Given the description of an element on the screen output the (x, y) to click on. 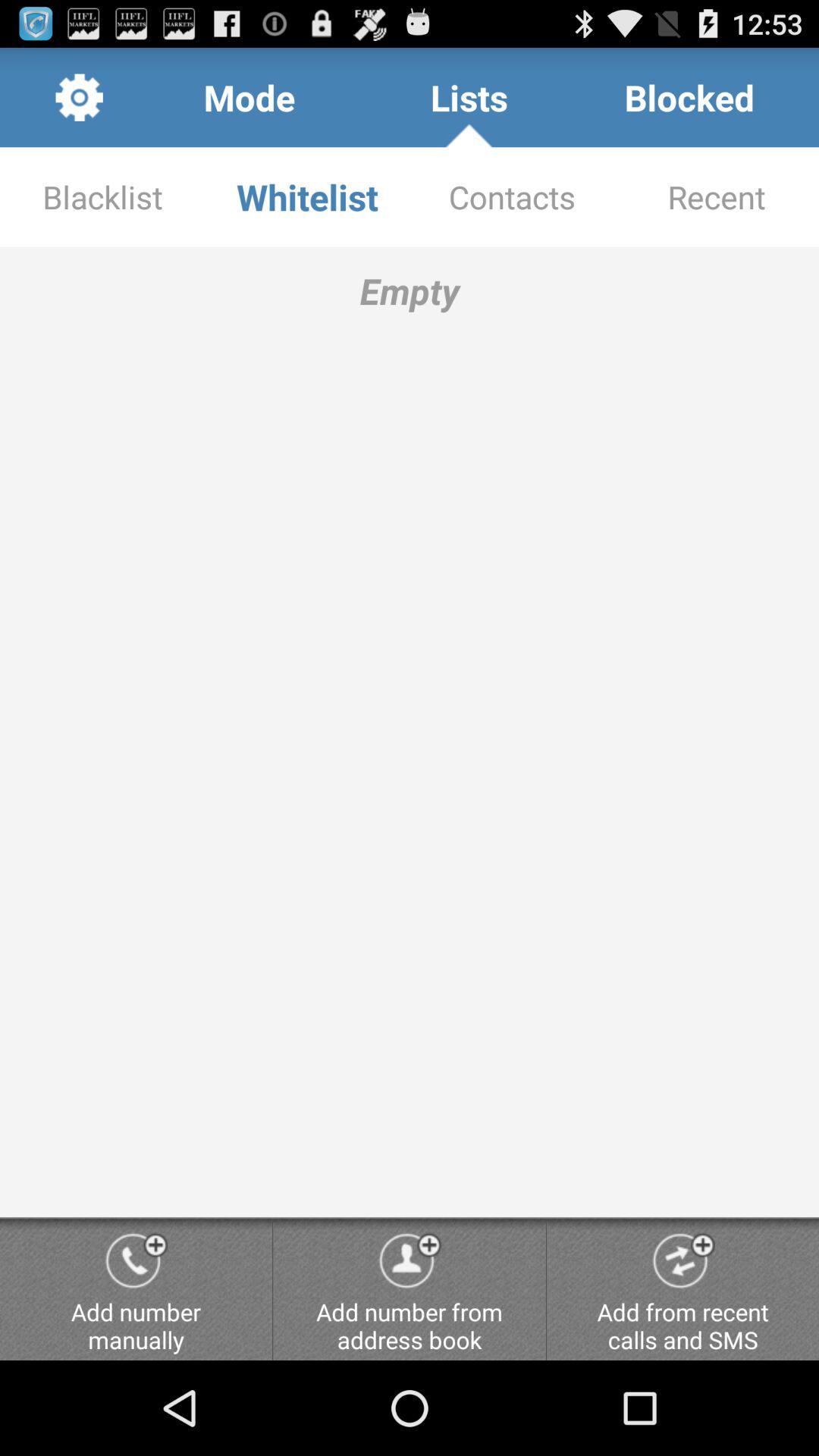
flip to the blacklist app (102, 196)
